Given the description of an element on the screen output the (x, y) to click on. 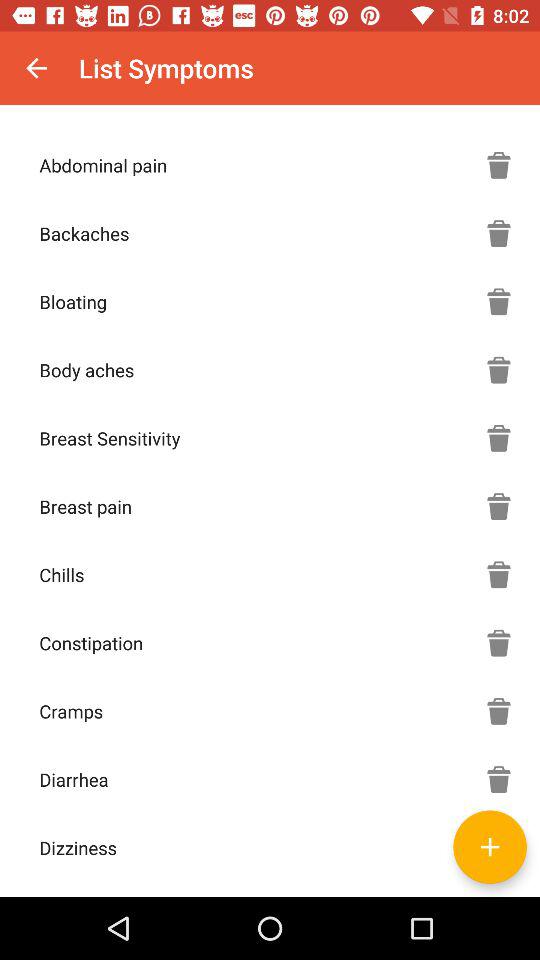
delete option (499, 438)
